Given the description of an element on the screen output the (x, y) to click on. 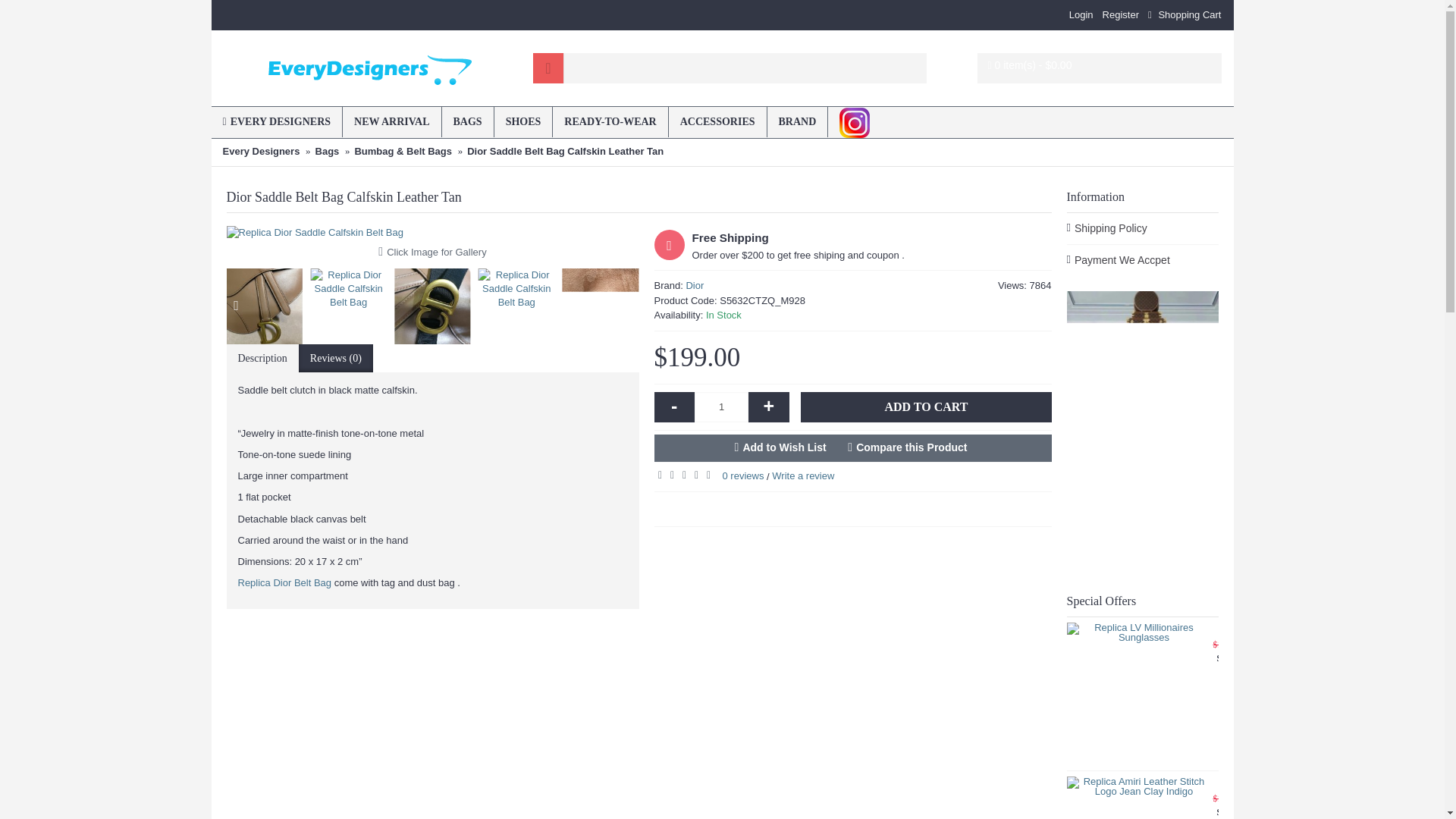
Shopping Cart (1183, 15)
Dior Saddle Calfskin Belt Bag  (432, 232)
SHOES (524, 122)
Login (1080, 15)
Every Designers online shopping (369, 67)
READY-TO-WEAR (609, 122)
EVERY DESIGNERS (276, 122)
BRAND (797, 122)
Dior Saddle Calfskin Belt Bag  (263, 306)
Amiri Leather Stitch Logo Jean Clay Indigo (1136, 797)
LV Millionaires Sunglasses (1136, 693)
ACCESSORIES (717, 122)
1 (721, 407)
Register (1119, 15)
NEW ARRIVAL (391, 122)
